Given the description of an element on the screen output the (x, y) to click on. 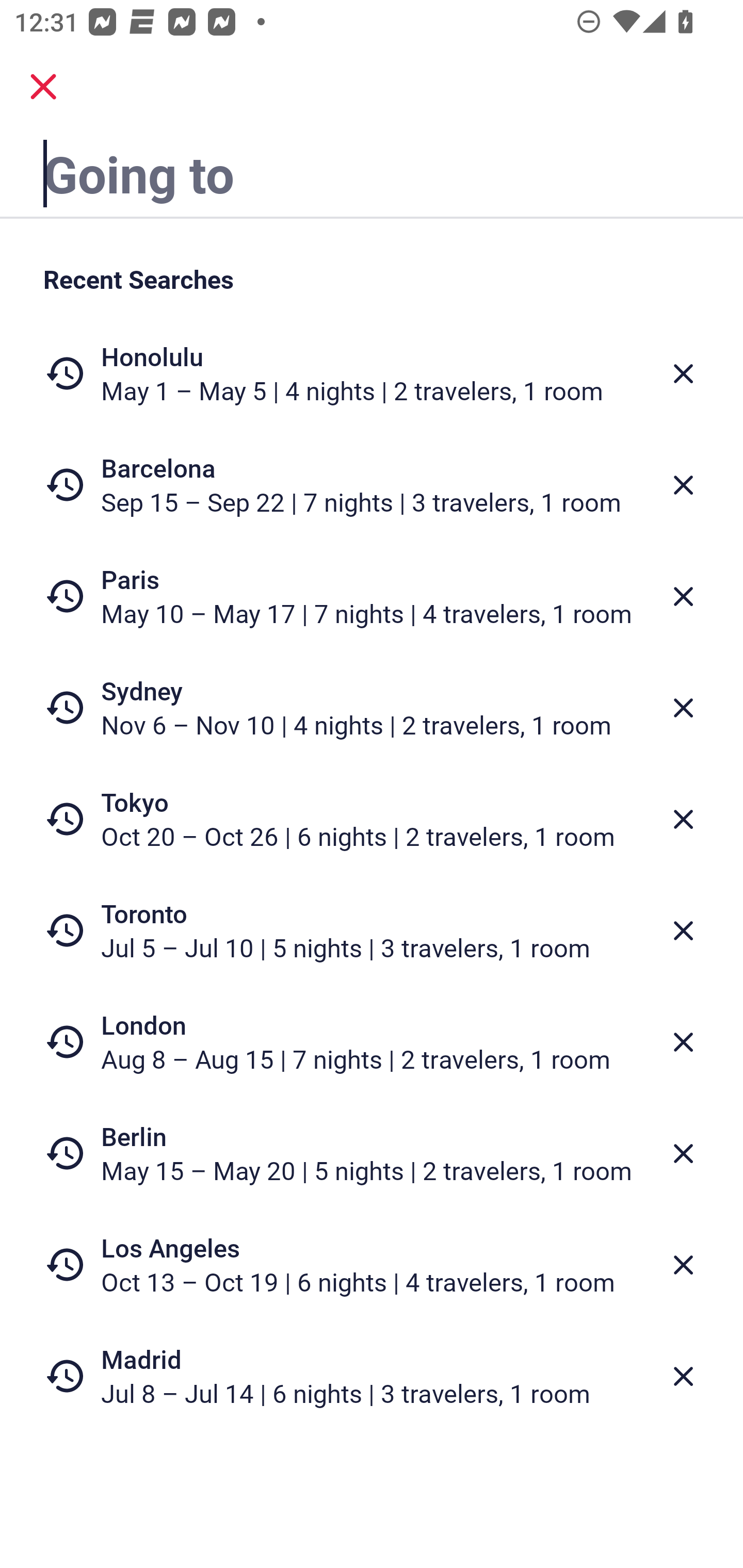
close. (43, 86)
Delete from recent searches (683, 373)
Delete from recent searches (683, 485)
Delete from recent searches (683, 596)
Delete from recent searches (683, 707)
Delete from recent searches (683, 819)
Delete from recent searches (683, 930)
Delete from recent searches (683, 1041)
Delete from recent searches (683, 1153)
Delete from recent searches (683, 1265)
Delete from recent searches (683, 1376)
